Given the description of an element on the screen output the (x, y) to click on. 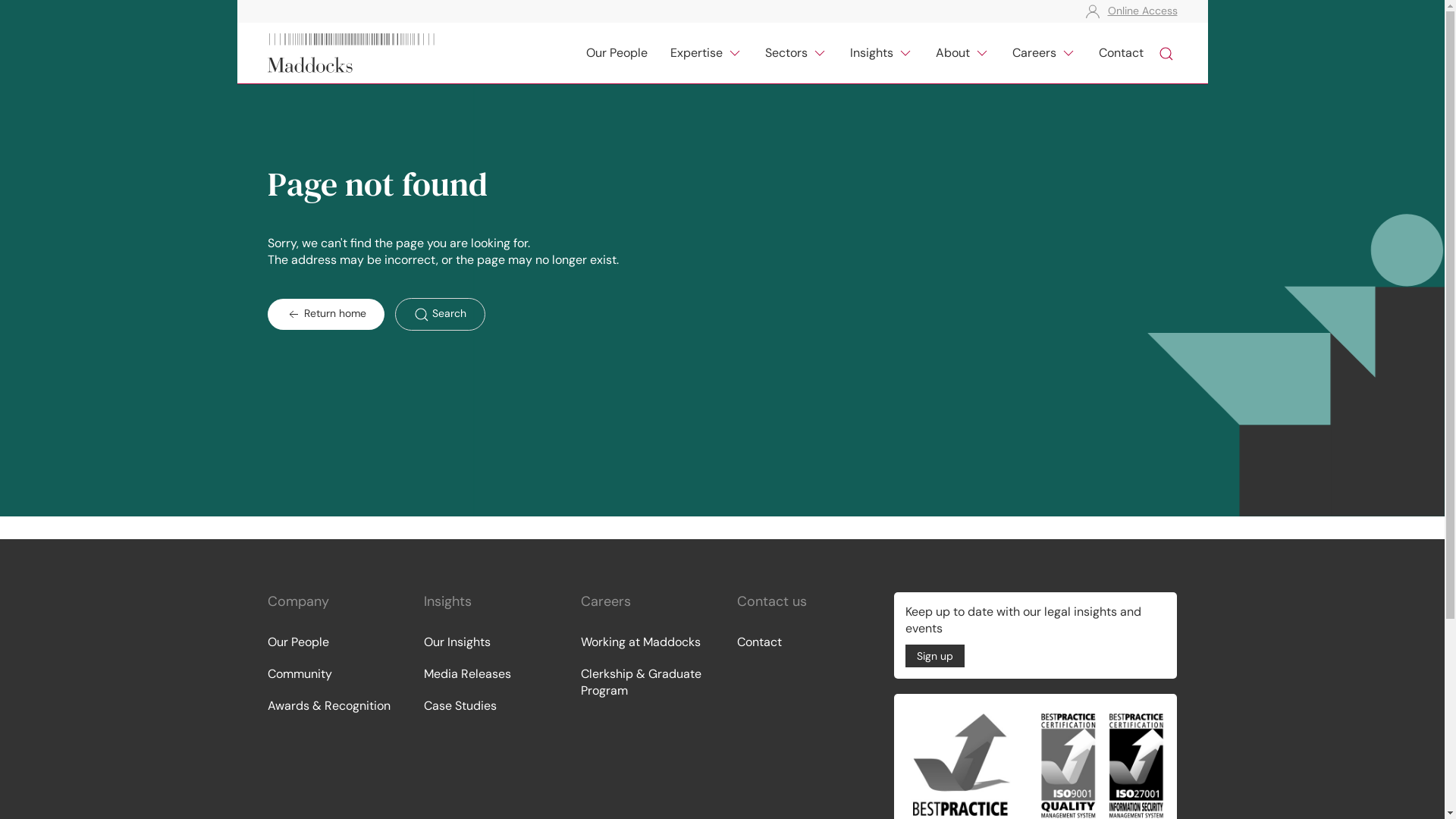
Sectors Element type: text (795, 52)
Media Releases Element type: text (486, 674)
Online Access Element type: text (1137, 10)
Clerkship & Graduate Program Element type: text (643, 682)
Insights Element type: text (881, 52)
Our People Element type: text (329, 642)
Community Element type: text (329, 674)
Search Element type: text (439, 313)
About Element type: text (961, 52)
Our Insights Element type: text (486, 642)
Sign up Element type: text (934, 655)
Expertise Element type: text (743, 71)
Careers Element type: text (1044, 52)
Return home Element type: text (324, 313)
Contact Element type: text (1120, 52)
Case Studies Element type: text (486, 705)
Awards & Recognition Element type: text (329, 705)
Working at Maddocks Element type: text (643, 642)
Our People Element type: text (662, 71)
Contact Element type: text (800, 642)
